Given the description of an element on the screen output the (x, y) to click on. 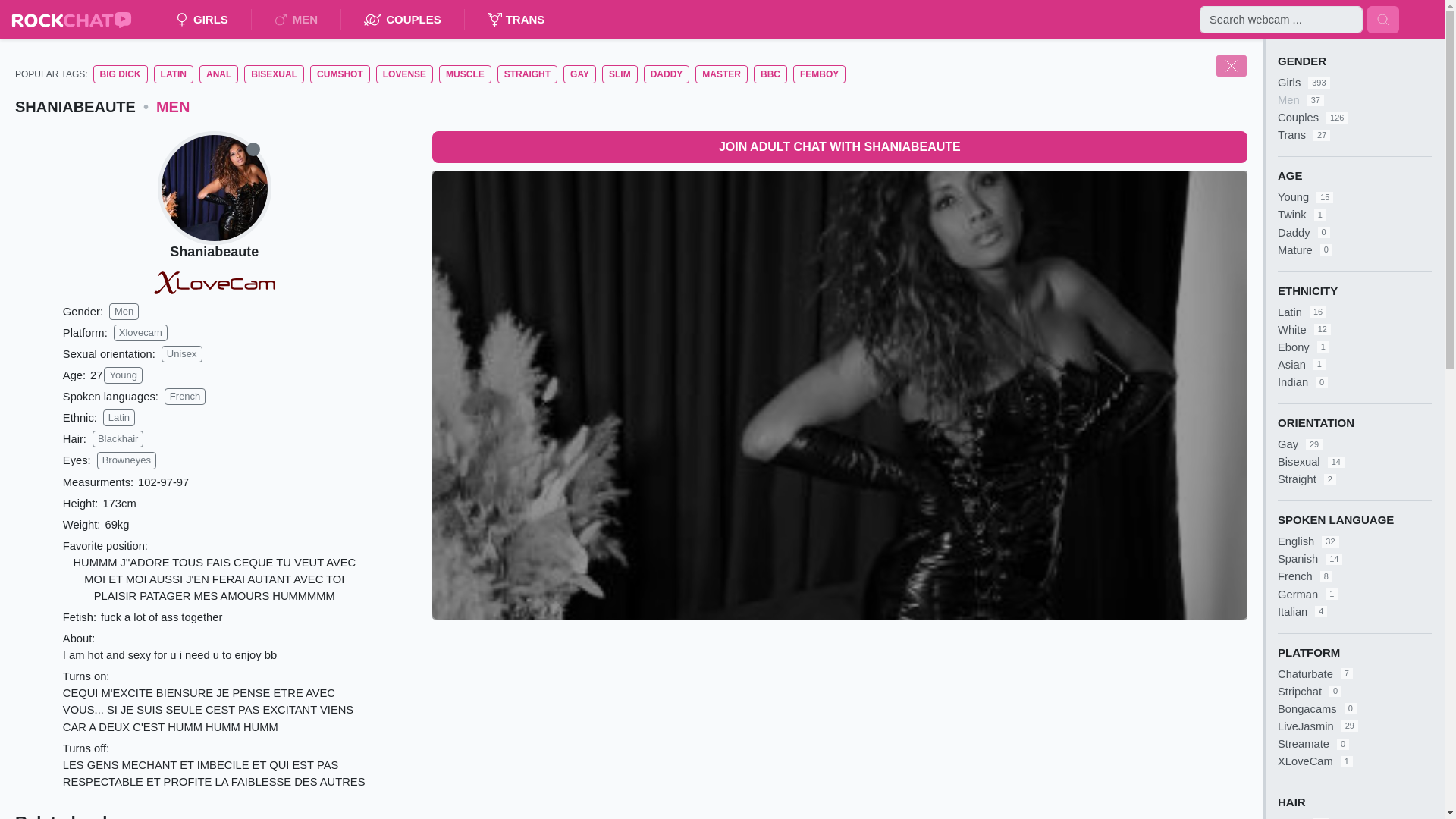
Men (123, 311)
GAY (579, 74)
CUMSHOT (339, 74)
Shaniabeaute (214, 251)
Young (122, 375)
STRAIGHT (527, 74)
Browneyes (126, 460)
French (184, 396)
MASTER (721, 74)
GIRLS (201, 20)
